Given the description of an element on the screen output the (x, y) to click on. 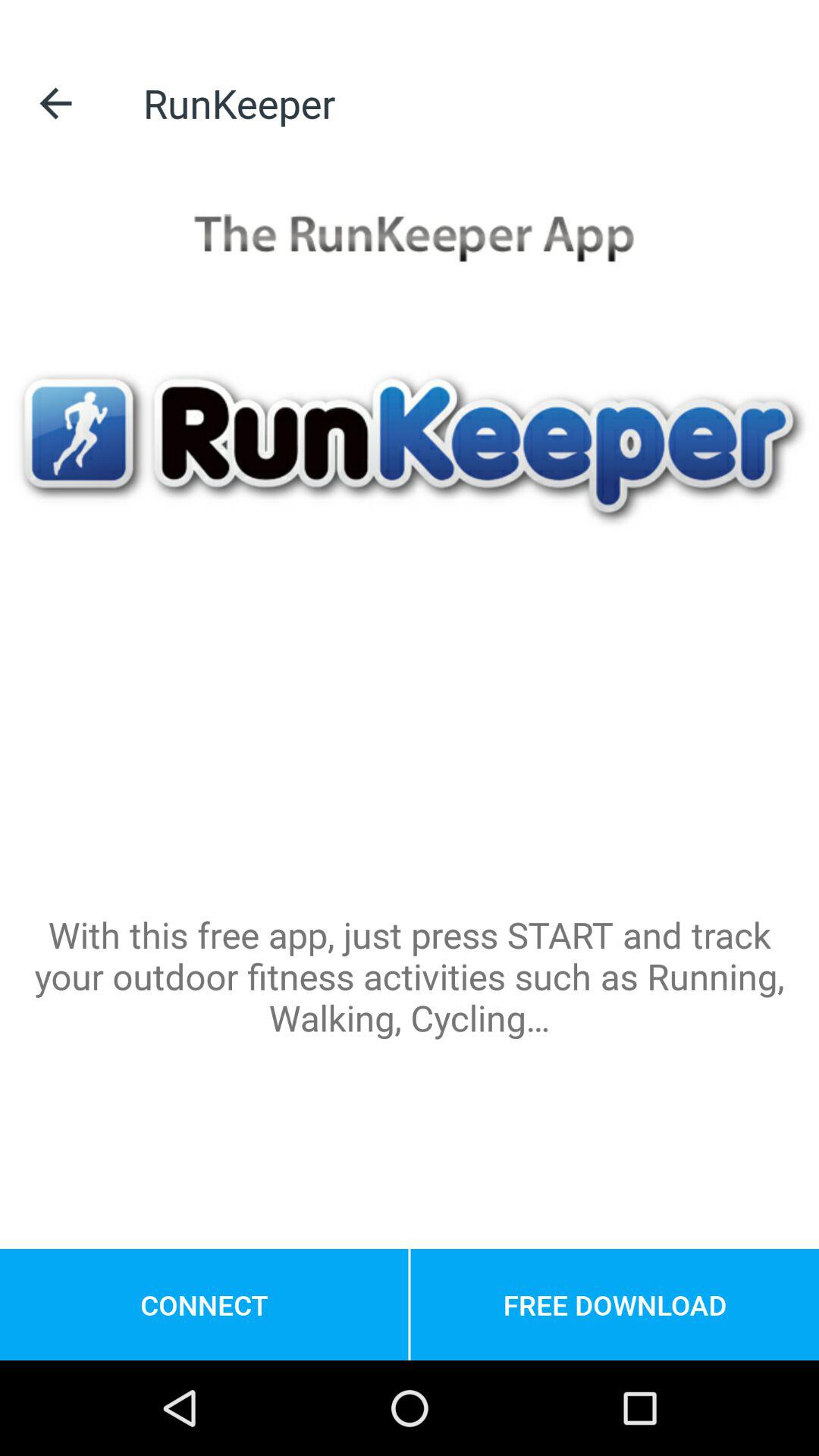
tap the icon below the with this free icon (204, 1304)
